Given the description of an element on the screen output the (x, y) to click on. 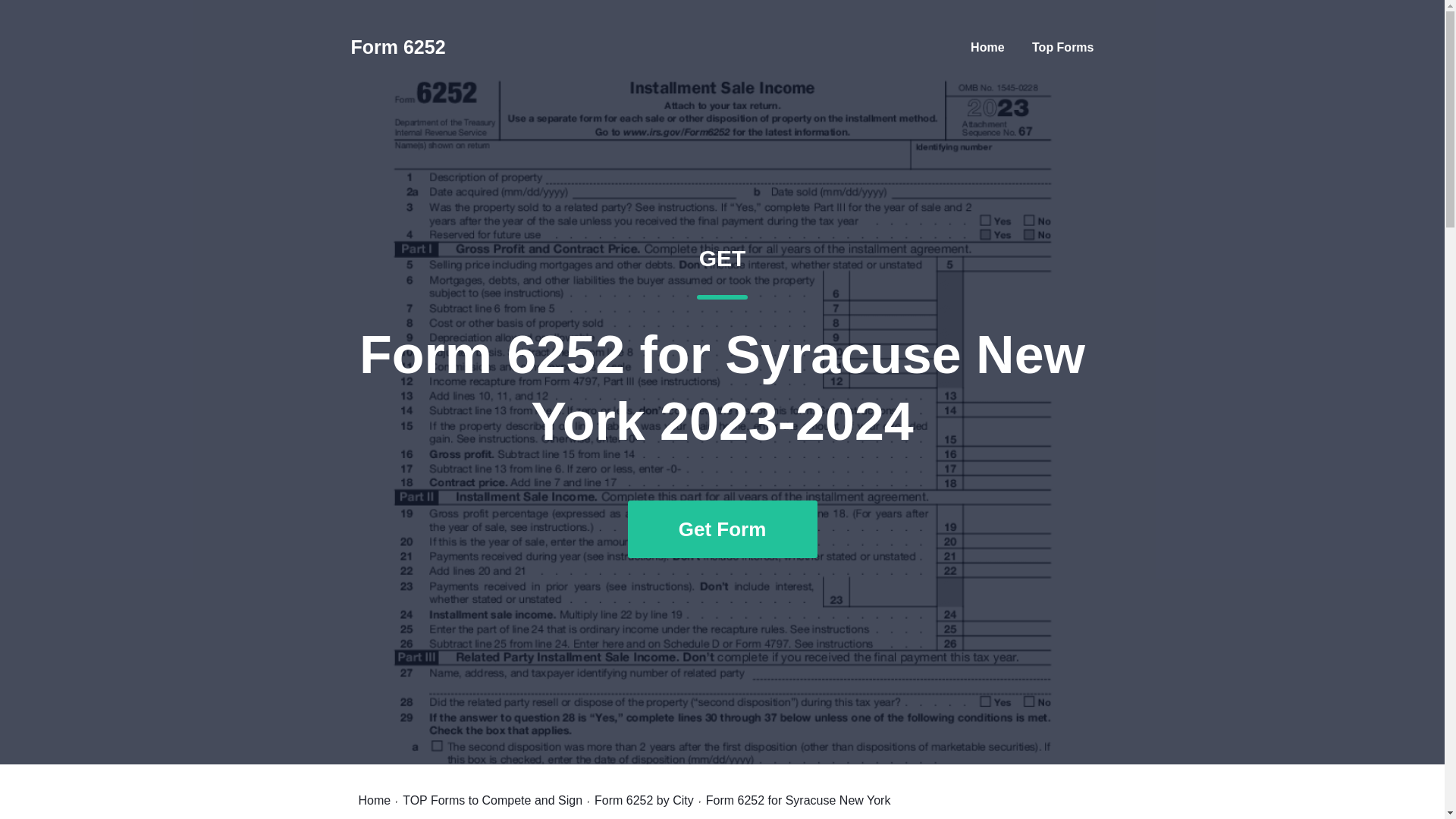
Home (374, 800)
Form 6252 (397, 46)
TOP Forms to Compete and Sign (492, 800)
Form 6252 by City (644, 800)
Top Forms (1062, 47)
Home (987, 47)
